Given the description of an element on the screen output the (x, y) to click on. 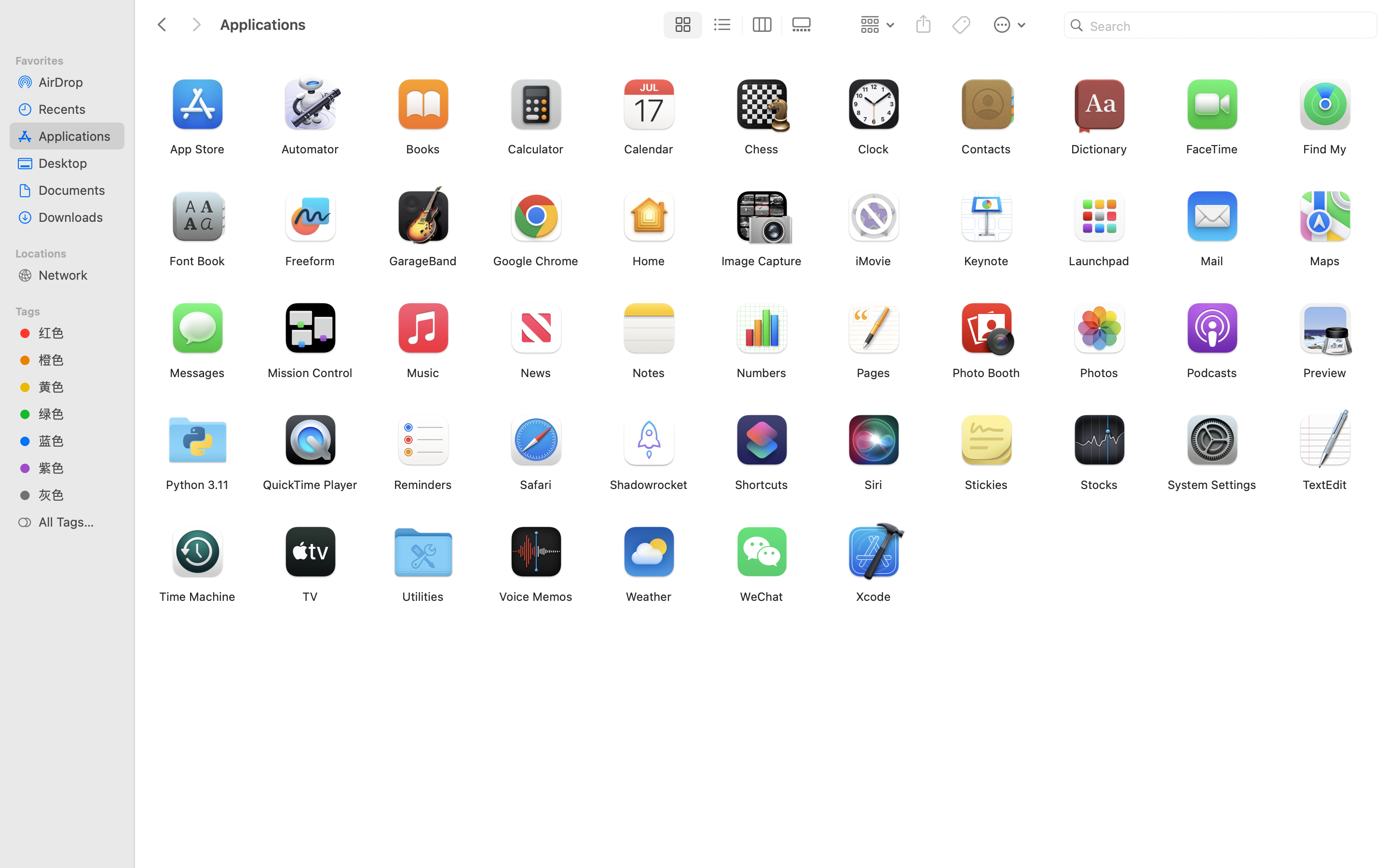
Downloads Element type: AXStaticText (77, 216)
1 Element type: AXRadioButton (680, 24)
<AXUIElement 0x147b59eb0> {pid=510} Element type: AXRadioGroup (741, 24)
Desktop Element type: AXStaticText (77, 162)
橙色 Element type: AXStaticText (77, 359)
